Given the description of an element on the screen output the (x, y) to click on. 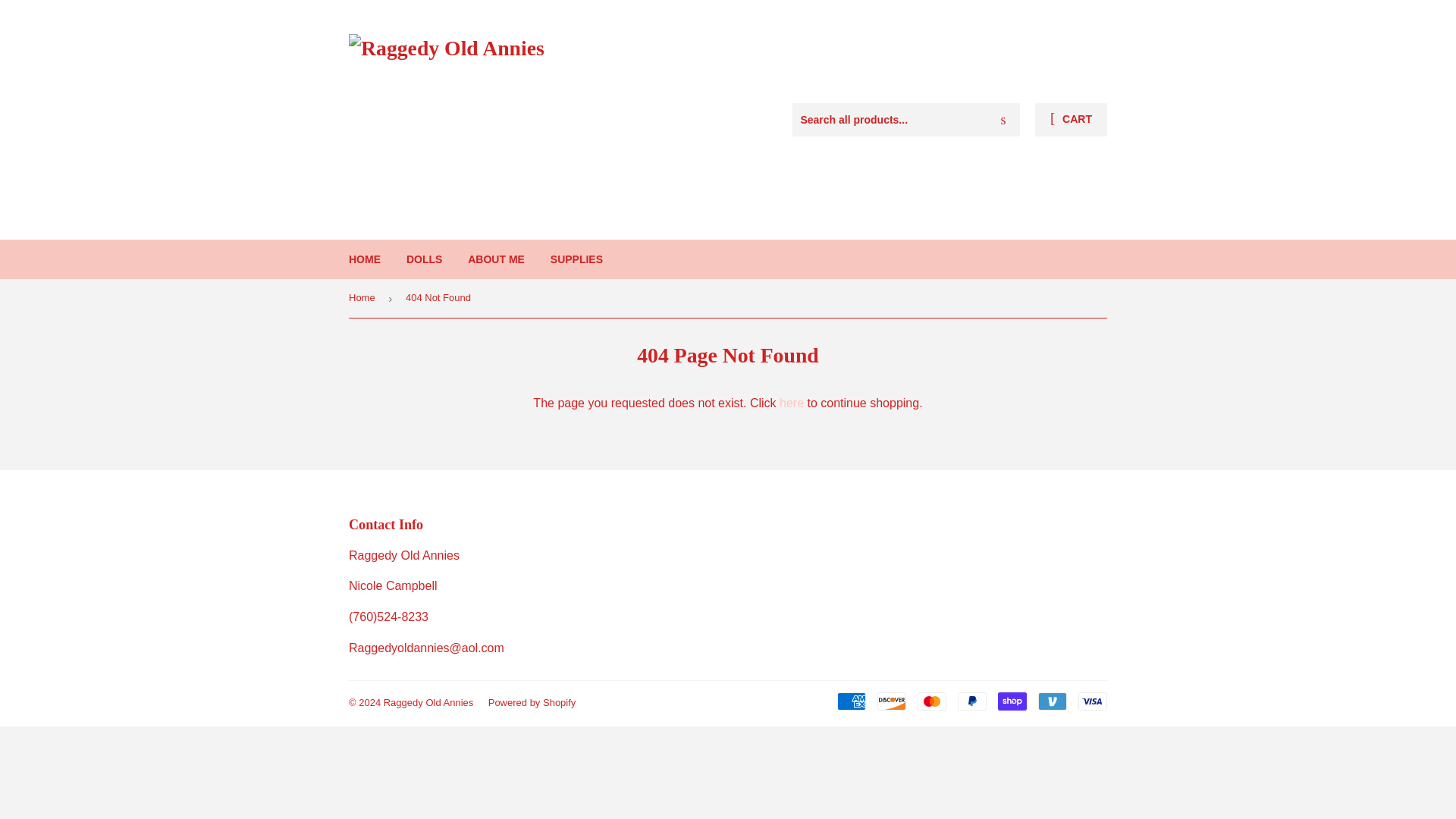
DOLLS (423, 259)
Venmo (1052, 701)
ABOUT ME (496, 259)
Visa (1092, 701)
SUPPLIES (576, 259)
Discover (891, 701)
Shop Pay (1011, 701)
Mastercard (931, 701)
PayPal (972, 701)
HOME (364, 259)
